Given the description of an element on the screen output the (x, y) to click on. 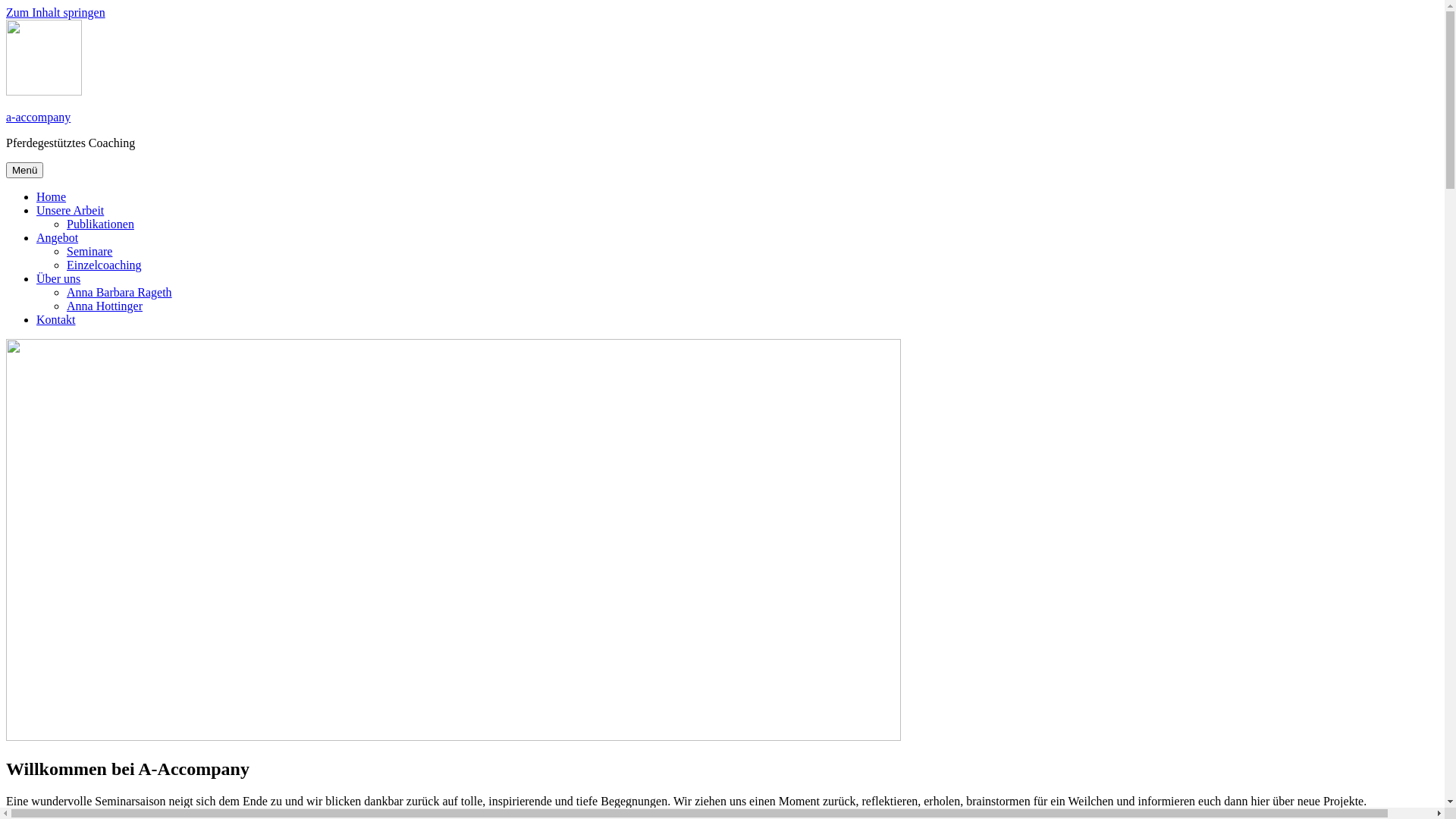
Unsere Arbeit Element type: text (69, 209)
Seminare Element type: text (89, 250)
Angebot Element type: text (57, 237)
Anna Barbara Rageth Element type: text (119, 291)
Anna Hottinger Element type: text (104, 305)
a-accompany Element type: text (38, 116)
Zum Inhalt springen Element type: text (55, 12)
Publikationen Element type: text (100, 223)
Kontakt Element type: text (55, 319)
Einzelcoaching Element type: text (103, 264)
Home Element type: text (50, 196)
